Given the description of an element on the screen output the (x, y) to click on. 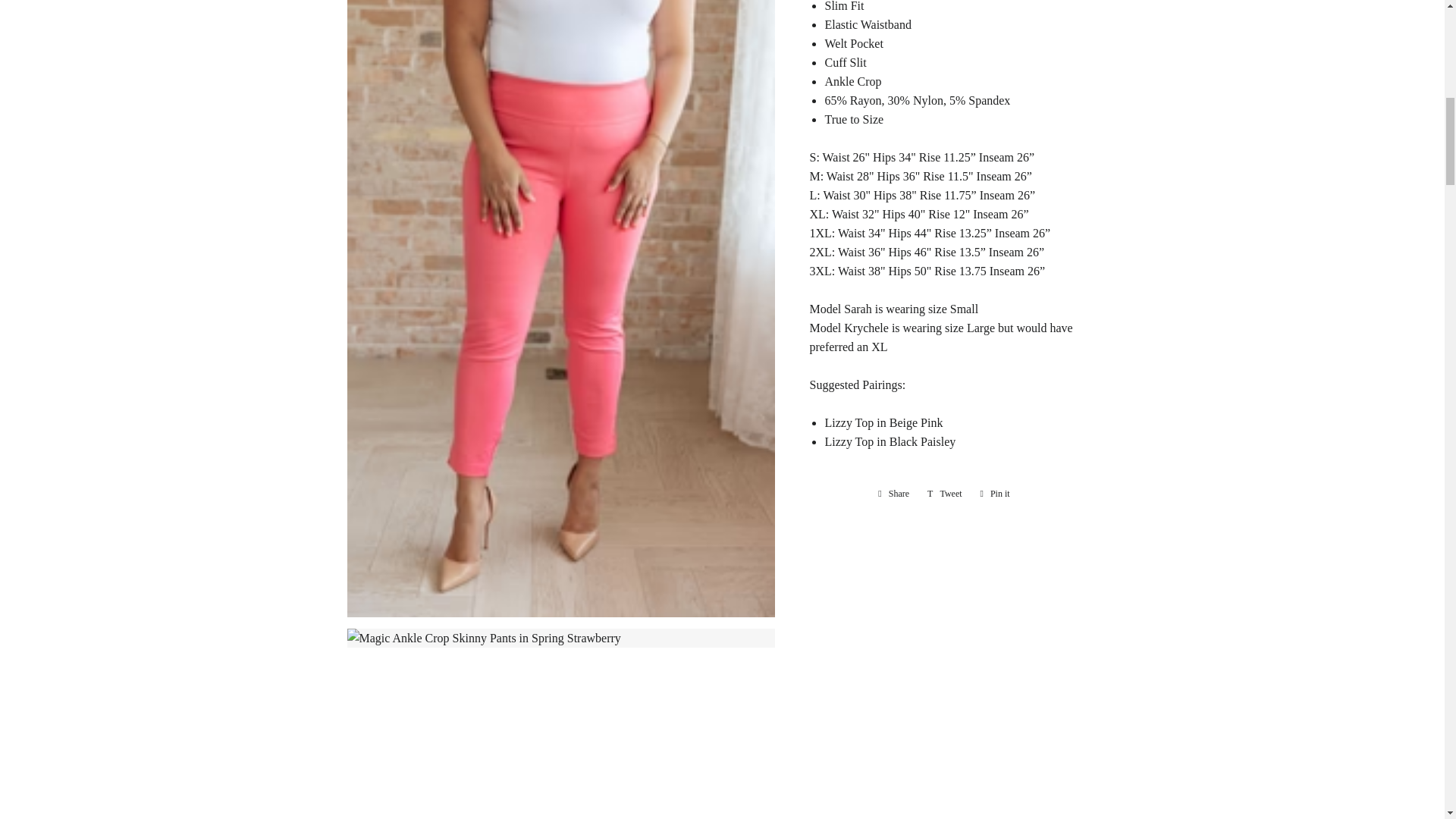
Share on Facebook (893, 493)
Tweet on Twitter (944, 493)
Pin on Pinterest (994, 493)
